Given the description of an element on the screen output the (x, y) to click on. 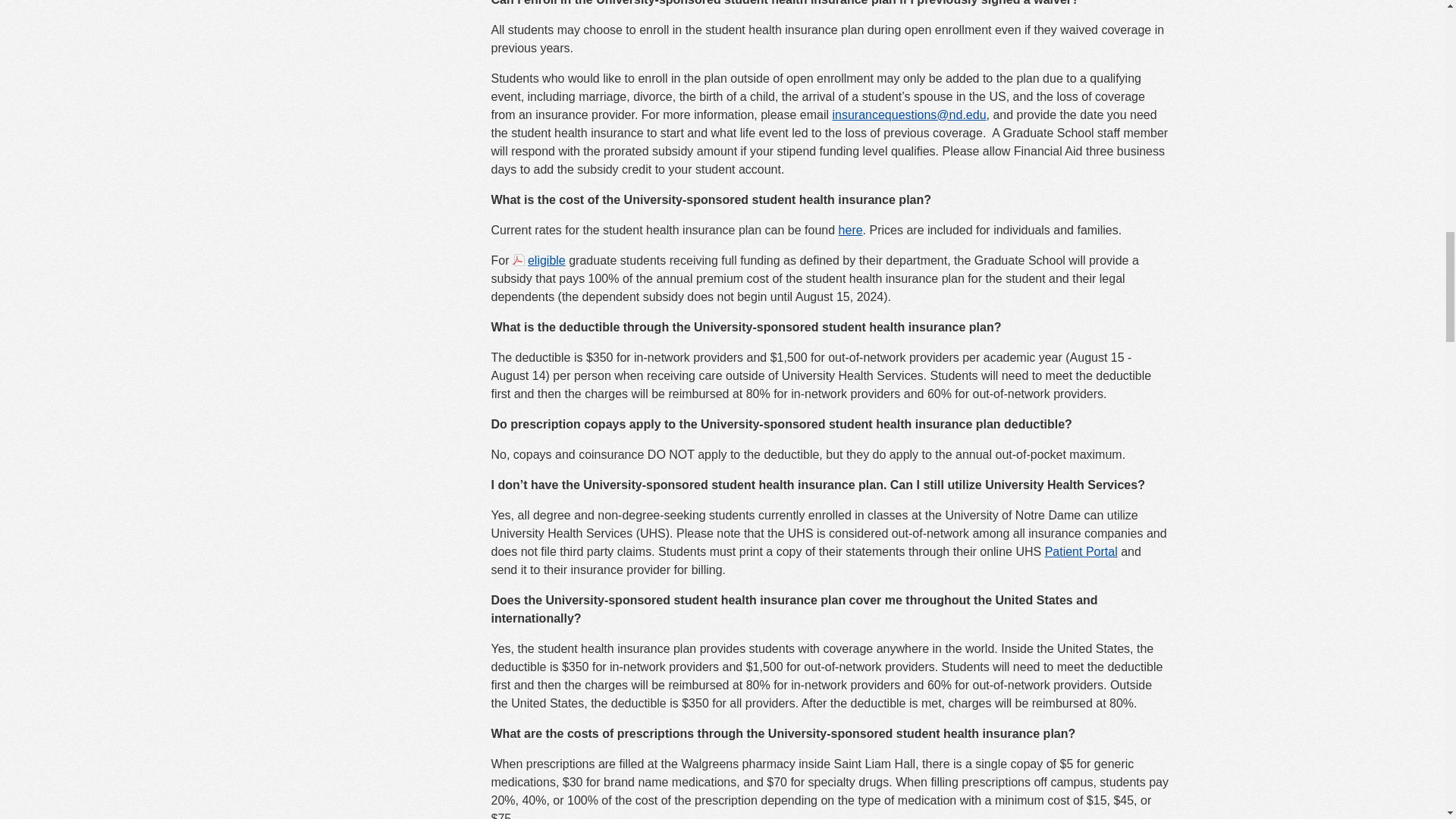
eligible (539, 259)
here (850, 229)
Patient Portal (1081, 551)
